Given the description of an element on the screen output the (x, y) to click on. 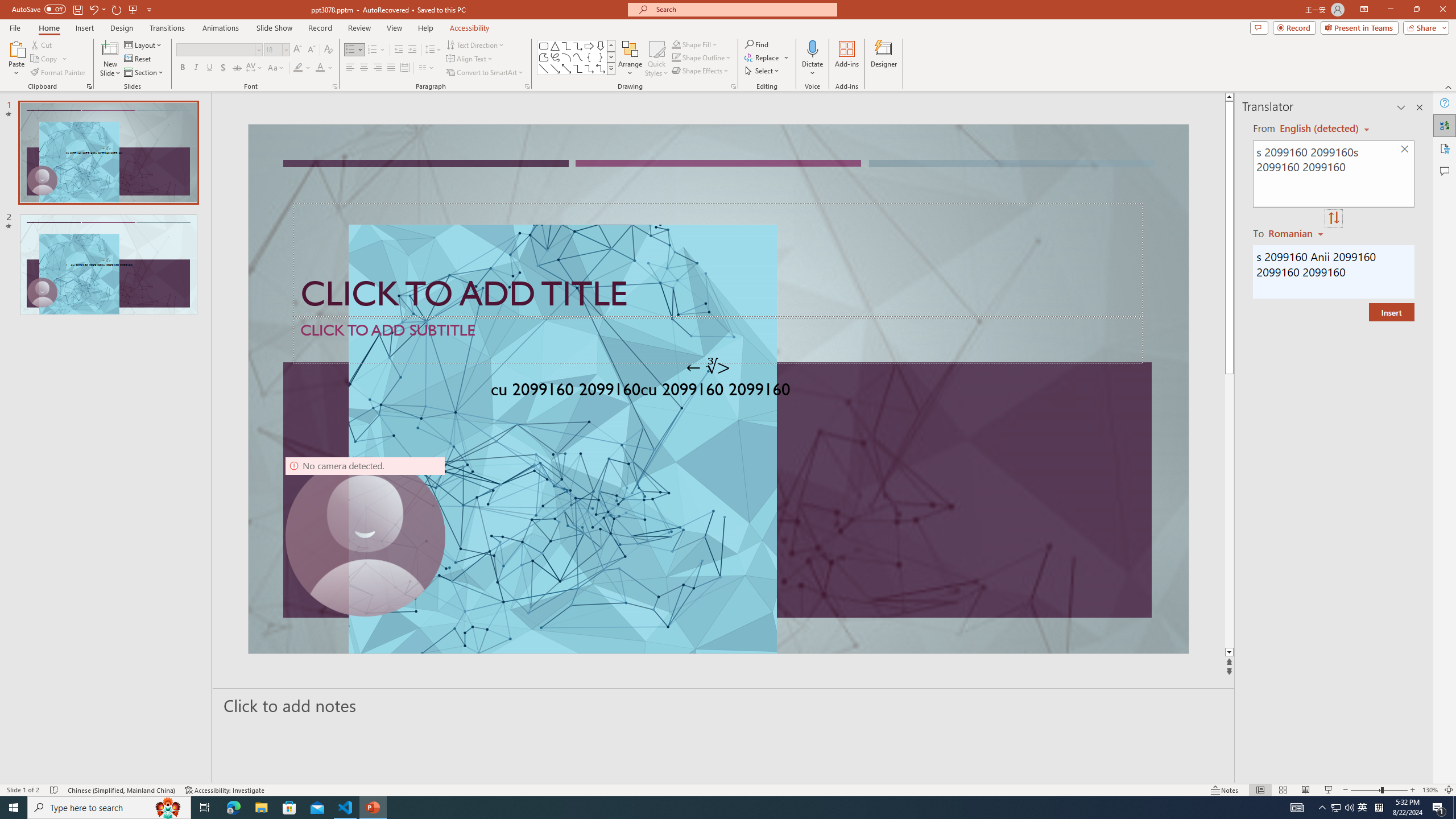
Czech (1296, 232)
